Given the description of an element on the screen output the (x, y) to click on. 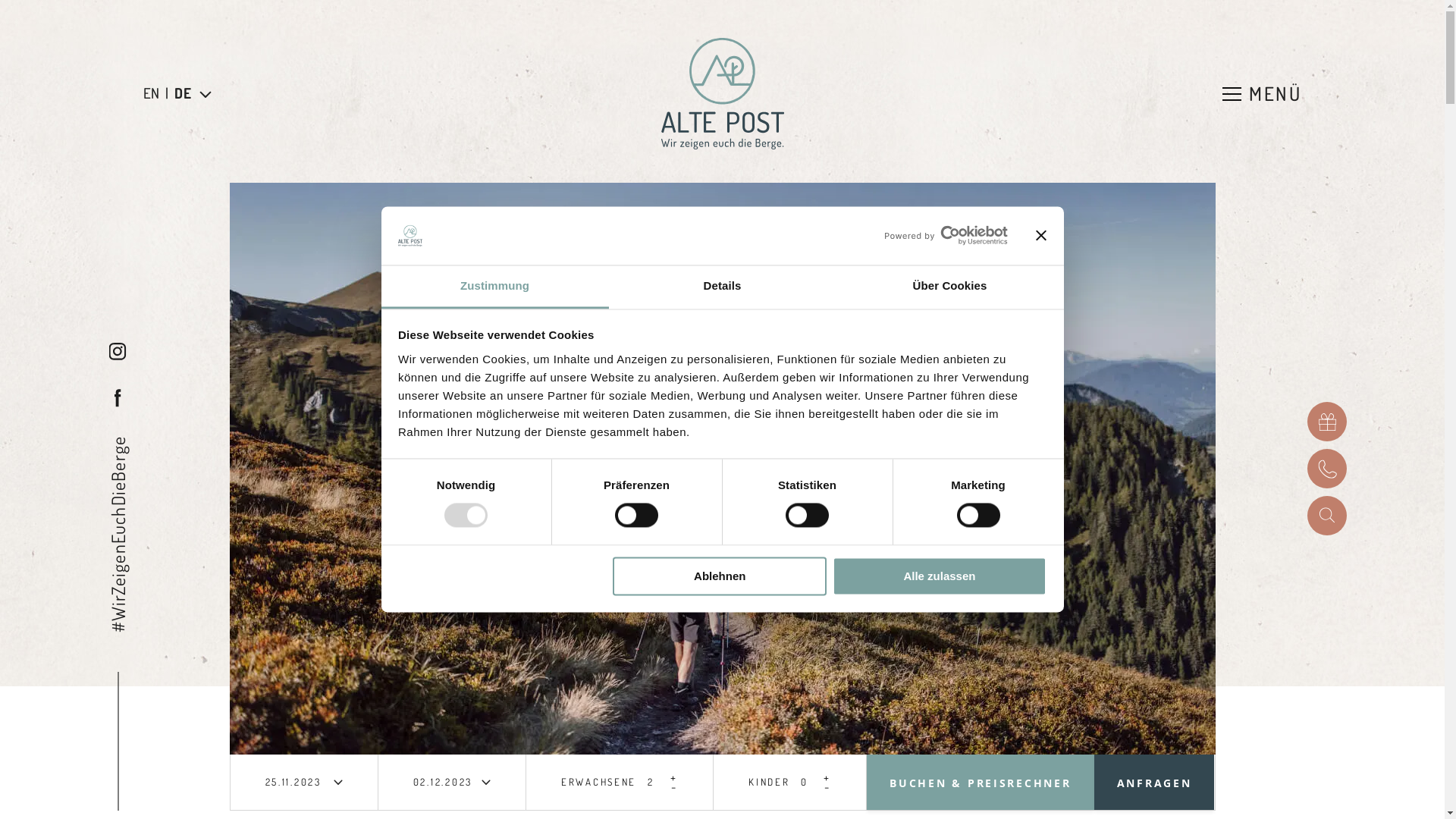
Anruf bei Hotel Alte Post Element type: hover (1326, 468)
Zur Suche Element type: hover (1326, 515)
EN Element type: text (151, 93)
Zustimmung Element type: text (494, 286)
Link zur Gutschein-Bestellung Element type: hover (1326, 421)
Alle zulassen Element type: text (939, 575)
Ablehnen Element type: text (719, 575)
Details Element type: text (721, 286)
ANFRAGEN Element type: text (1154, 781)
BUCHEN & PREISRECHNER Element type: text (979, 781)
